Given the description of an element on the screen output the (x, y) to click on. 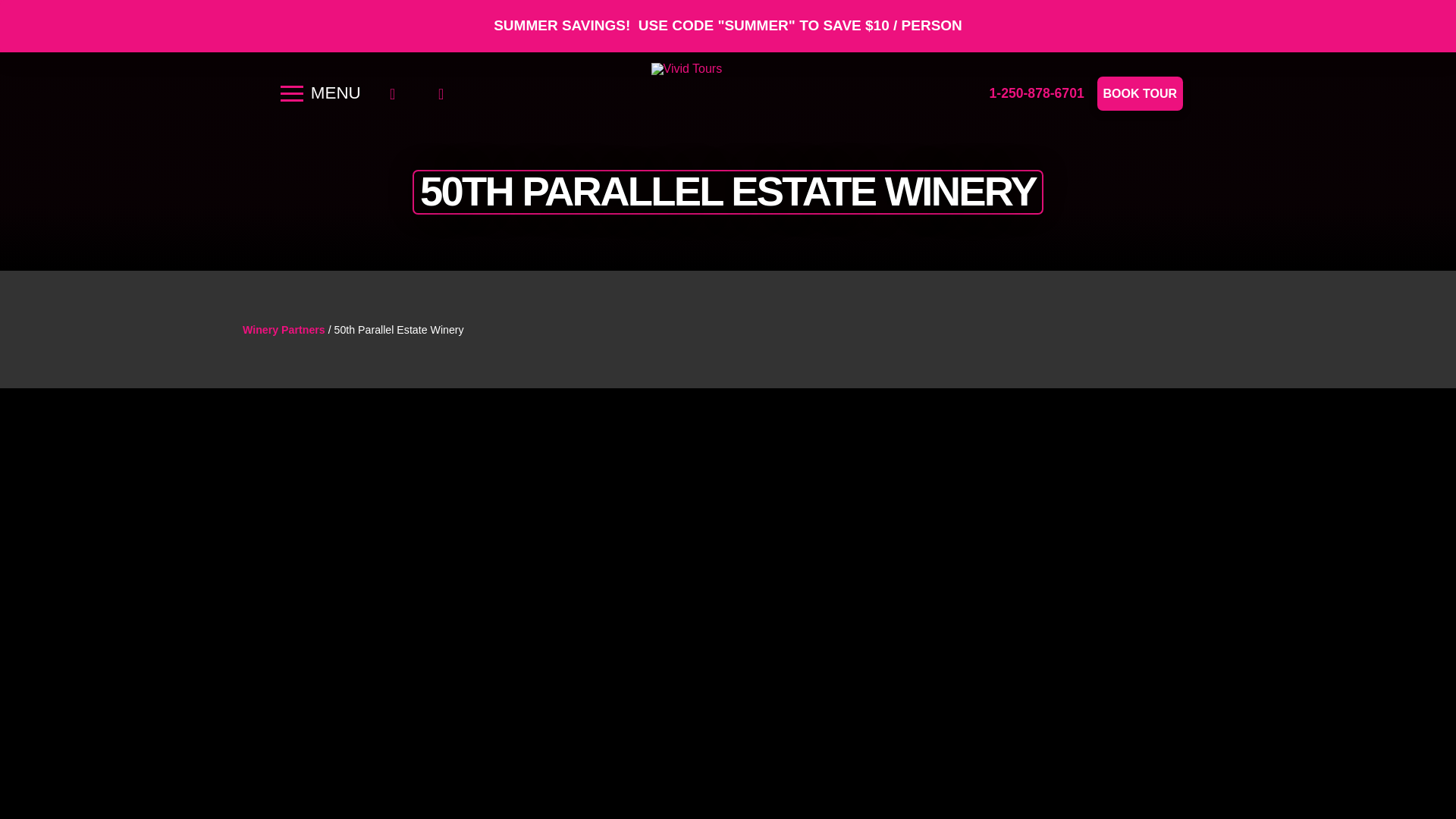
1-250-878-6701 (1035, 92)
BOOK TOUR (1139, 93)
Winery Partners (283, 329)
